Given the description of an element on the screen output the (x, y) to click on. 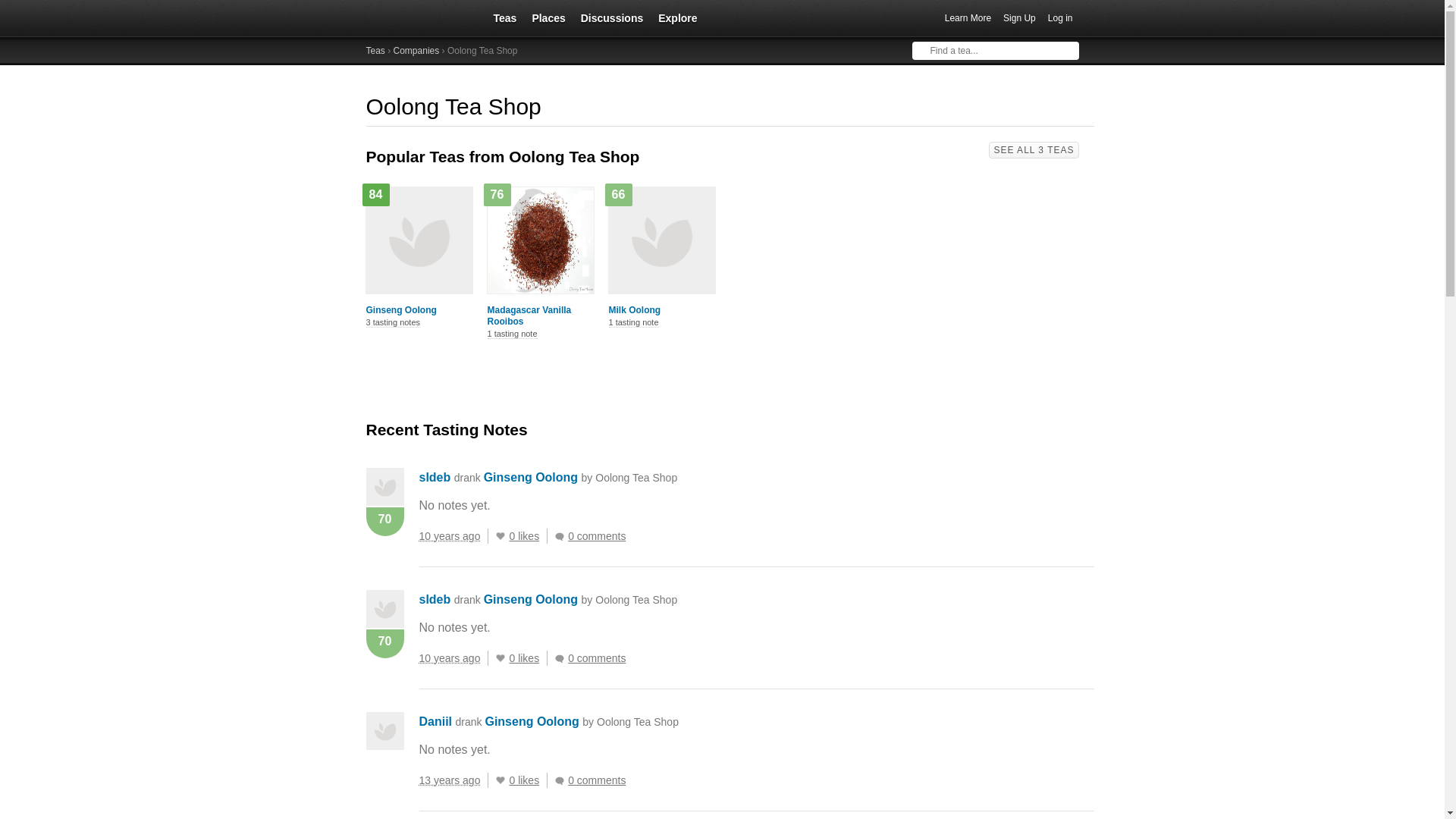
10 years ago (453, 657)
2011-07-12T16:27:40Z (449, 779)
3 tasting notes (392, 322)
Like This (500, 657)
Explore (677, 17)
I Like This (500, 535)
Sign Up (1019, 18)
2014-12-31T14:38:40Z (449, 535)
0 likes (527, 535)
Steepster (418, 18)
1 tasting note (511, 334)
sldeb (434, 599)
Learn More (968, 18)
10 years ago (453, 535)
Like This (500, 535)
